Given the description of an element on the screen output the (x, y) to click on. 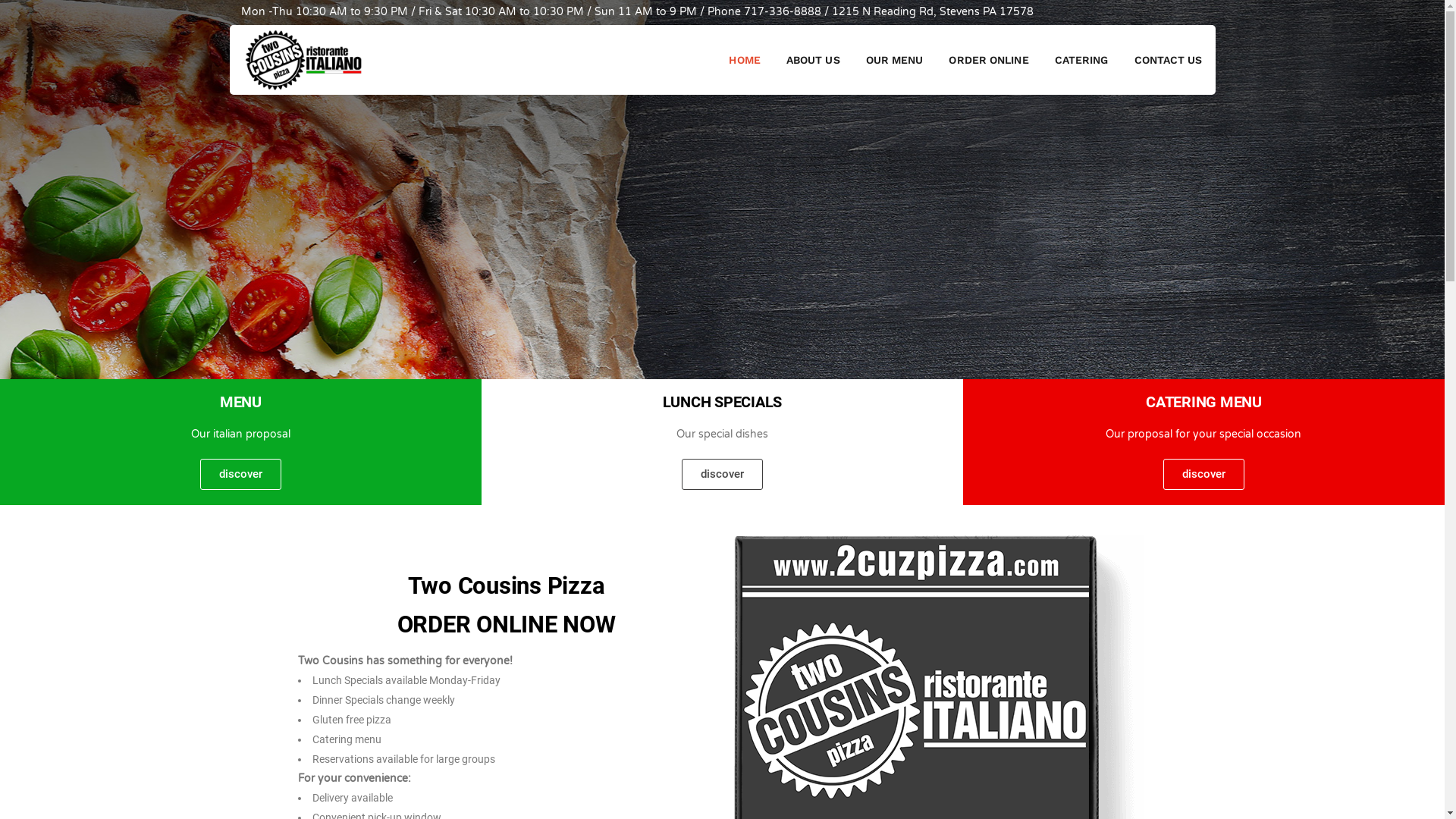
ABOUT US Element type: text (813, 59)
CONTACT US Element type: text (1167, 59)
OUR MENU Element type: text (894, 59)
discover Element type: text (240, 473)
discover Element type: text (721, 473)
CATERING Element type: text (1081, 59)
ORDER ONLINE NOW Element type: text (506, 623)
ORDER ONLINE Element type: text (988, 59)
discover Element type: text (1203, 473)
HOME Element type: text (743, 59)
